Given the description of an element on the screen output the (x, y) to click on. 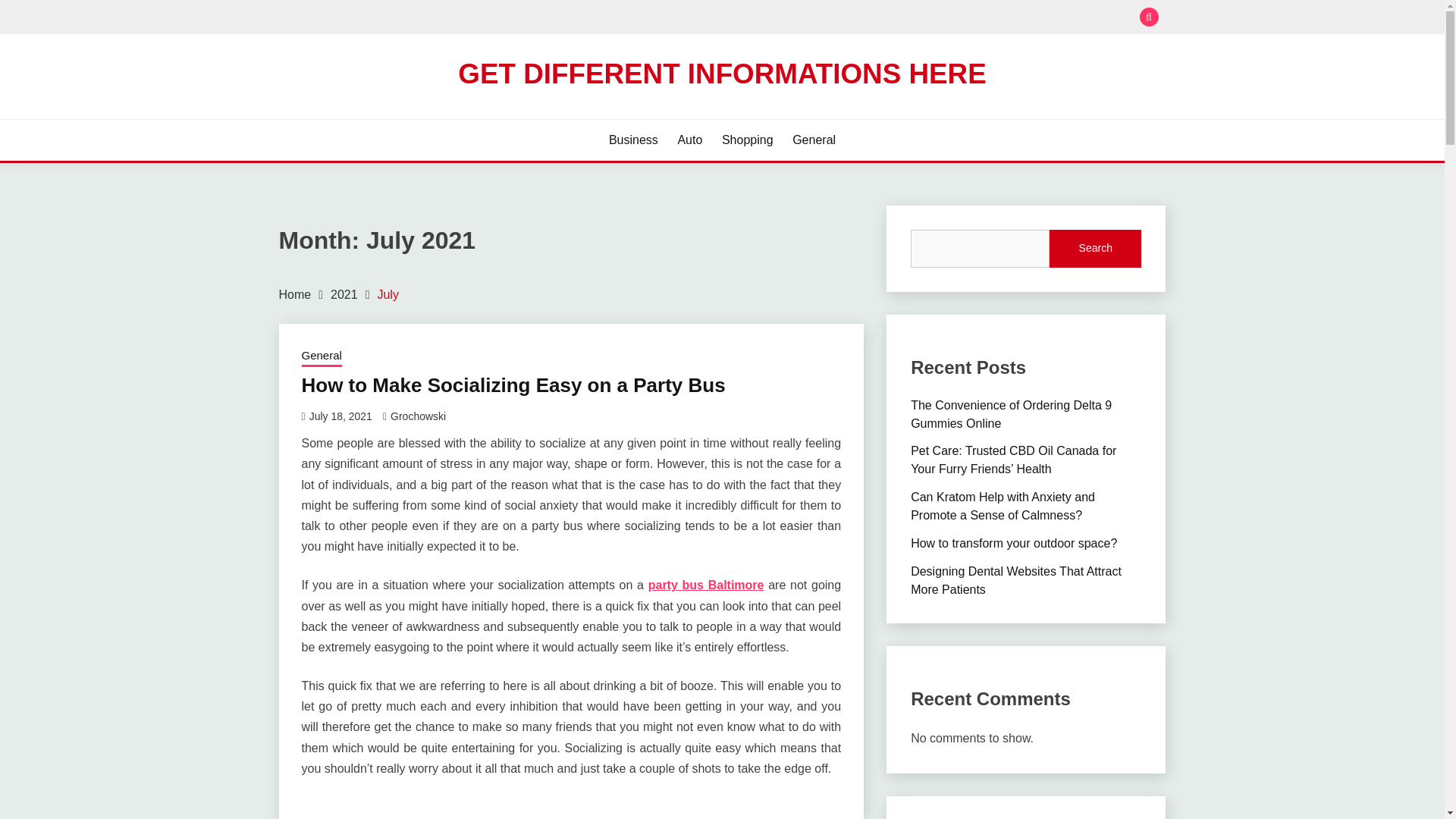
General (813, 140)
How to Make Socializing Easy on a Party Bus (513, 384)
Auto (689, 140)
Search (832, 18)
Search (1095, 248)
How to transform your outdoor space? (1013, 543)
Business (633, 140)
Designing Dental Websites That Attract More Patients (1016, 580)
The Convenience of Ordering Delta 9 Gummies Online (1011, 413)
